Given the description of an element on the screen output the (x, y) to click on. 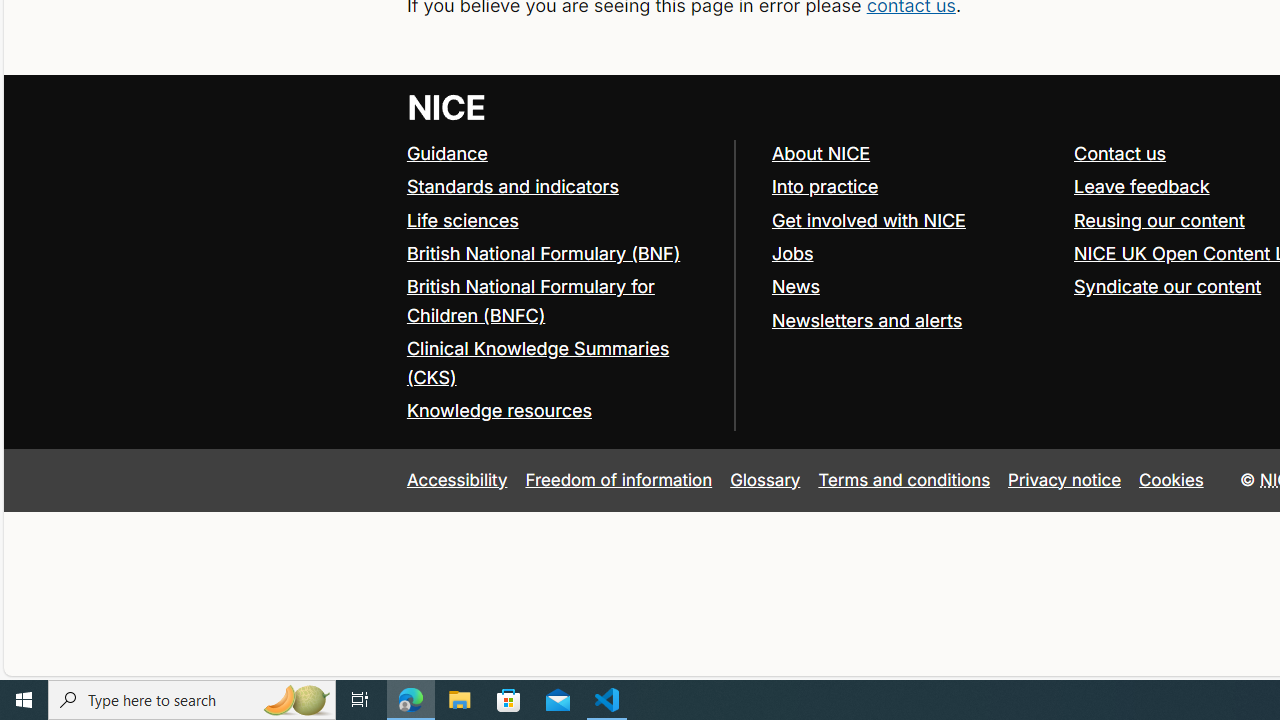
Privacy notice (1065, 479)
British National Formulary for Children (BNFC) (560, 301)
Newsletters and alerts (913, 321)
Cookies (1171, 479)
About NICE (820, 152)
Get involved with NICE (868, 219)
Into practice (913, 187)
Life sciences (560, 220)
Leave feedback (1141, 186)
Freedom of information (618, 479)
